Given the description of an element on the screen output the (x, y) to click on. 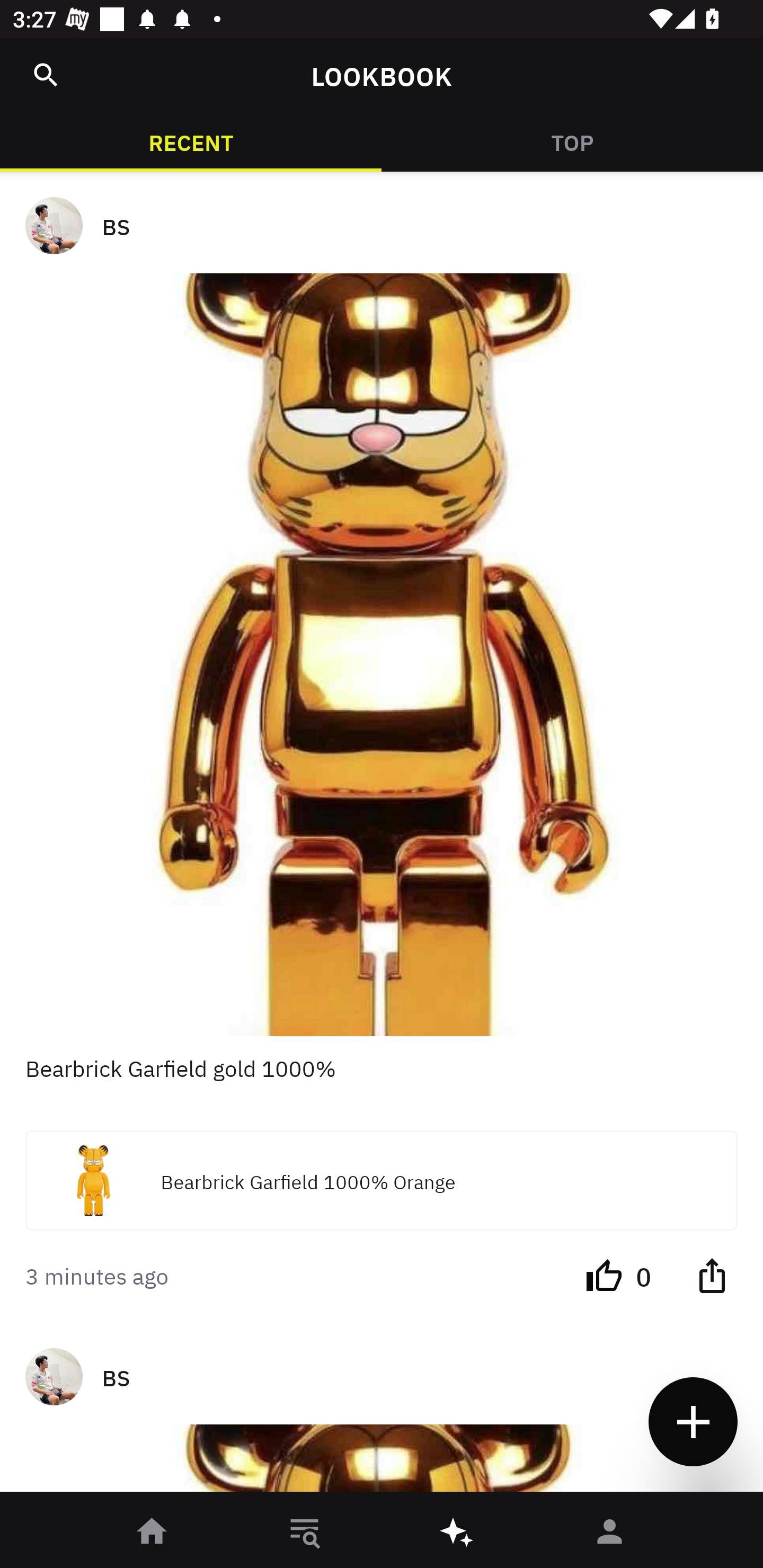
 (45, 74)
RECENT (190, 140)
TOP (572, 140)
Bearbrick Garfield gold 1000%
 (381, 1083)
Bearbrick Garfield 1000% Orange (381, 1180)
󰔔 (603, 1274)
 (711, 1274)
󰋜 (152, 1532)
󱎸 (305, 1532)
󰫢 (457, 1532)
󰀄 (610, 1532)
